Given the description of an element on the screen output the (x, y) to click on. 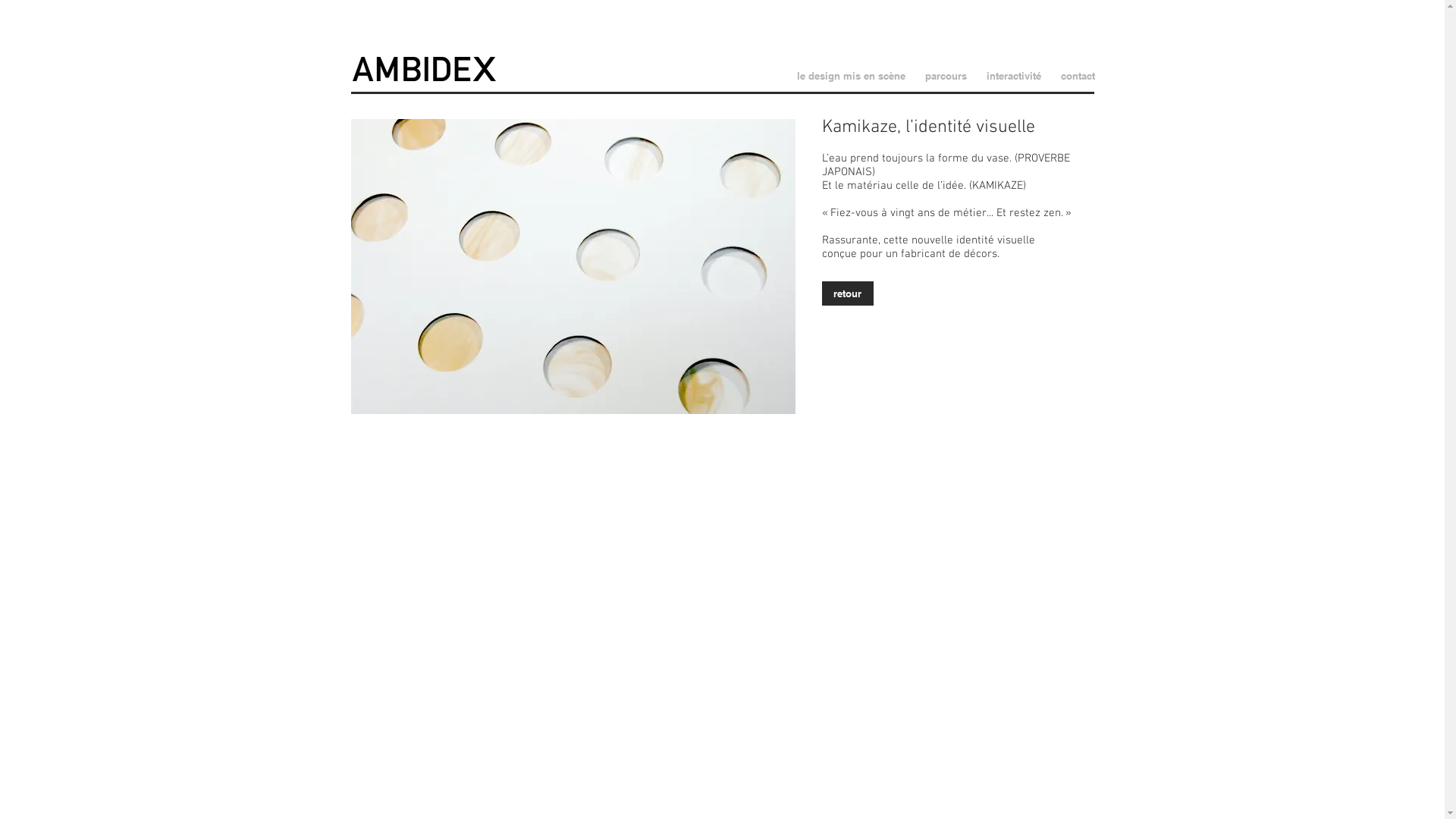
retour Element type: text (847, 293)
parcours Element type: text (944, 75)
contact Element type: text (1077, 75)
Design d'exposition Element type: hover (424, 68)
